Given the description of an element on the screen output the (x, y) to click on. 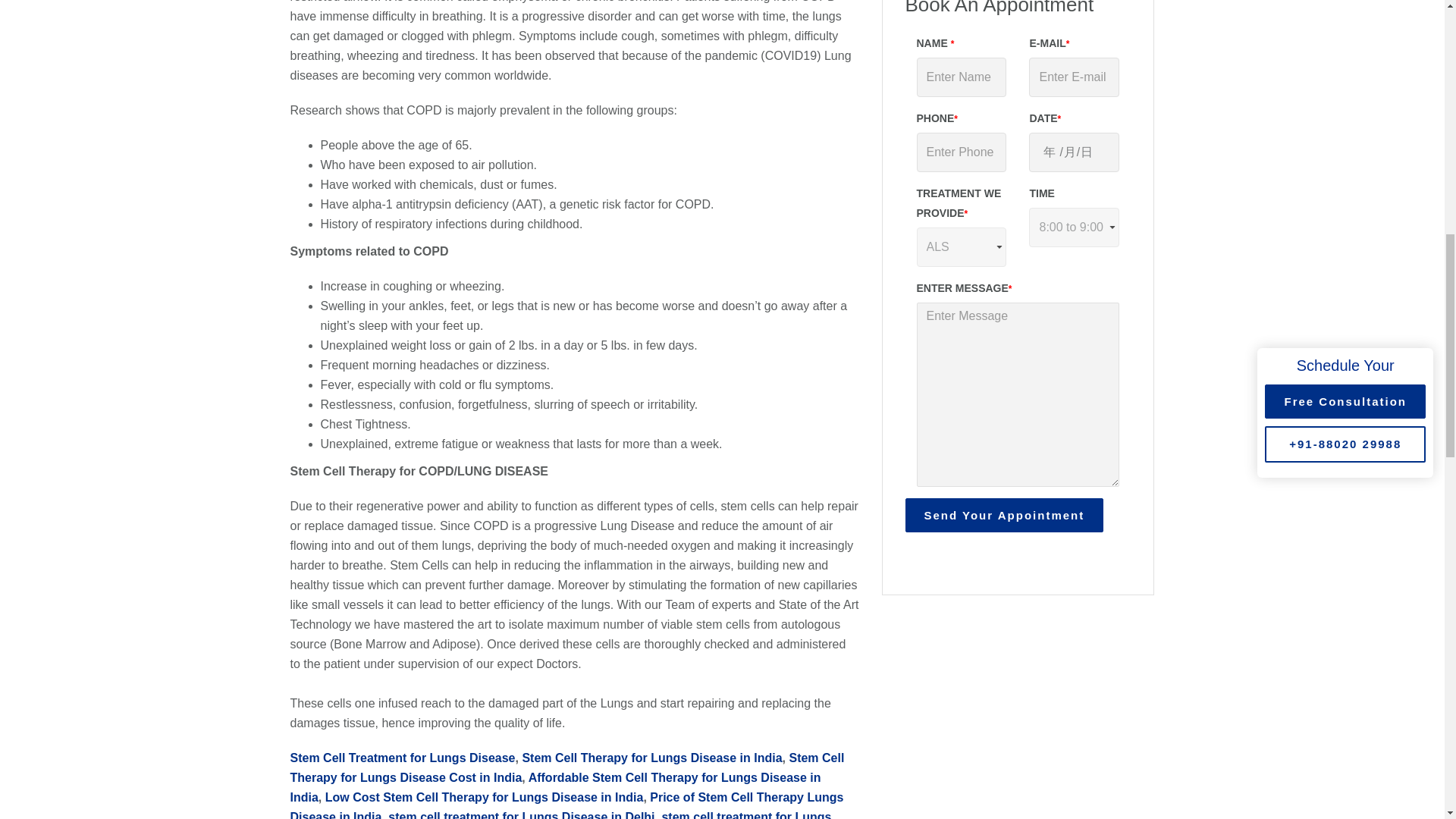
Send Your Appointment (1004, 514)
